Given the description of an element on the screen output the (x, y) to click on. 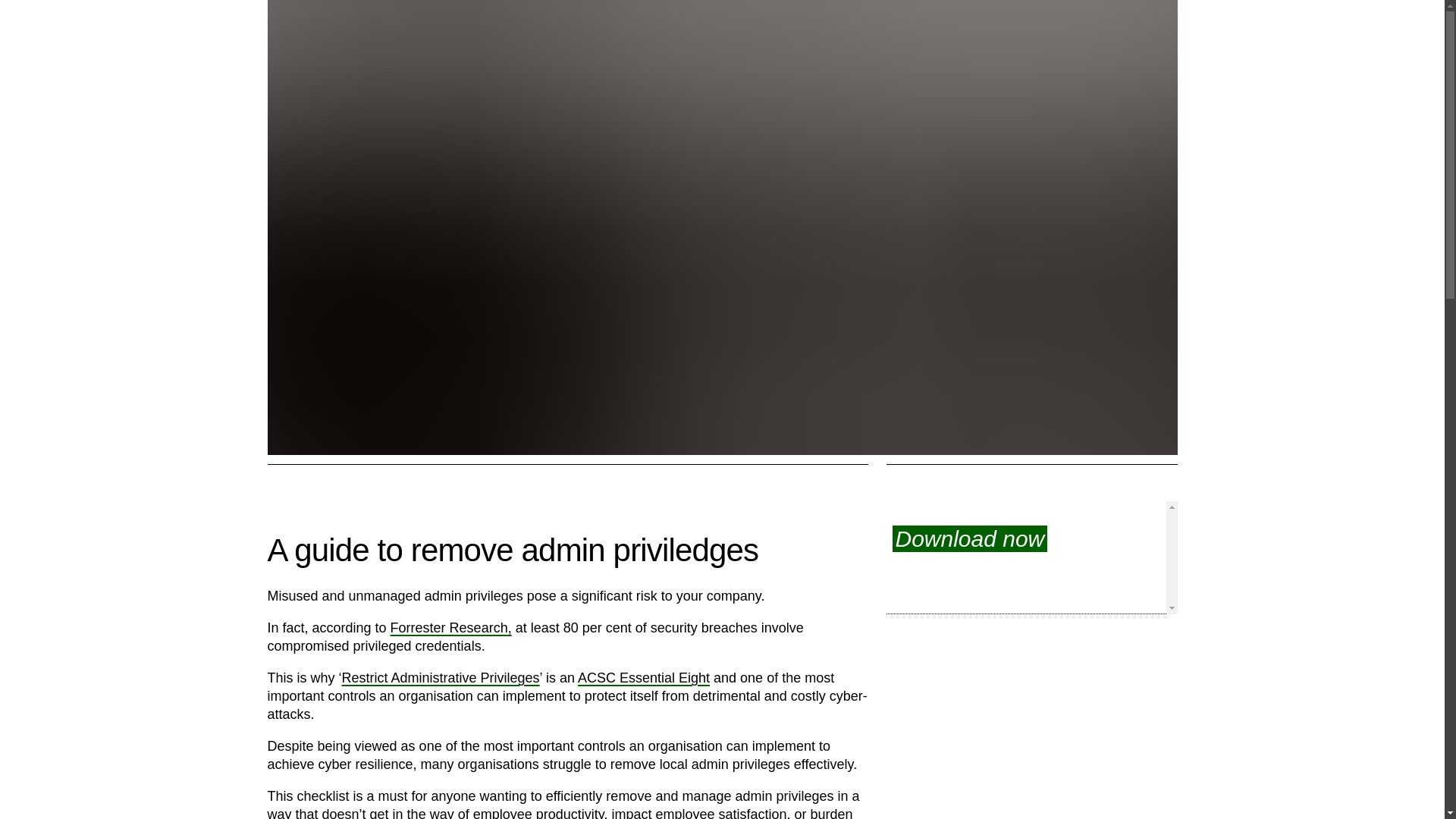
Restrict Administrative Privileges (441, 677)
ACSC Essential Eight (644, 677)
Forrester Research, (451, 627)
